Given the description of an element on the screen output the (x, y) to click on. 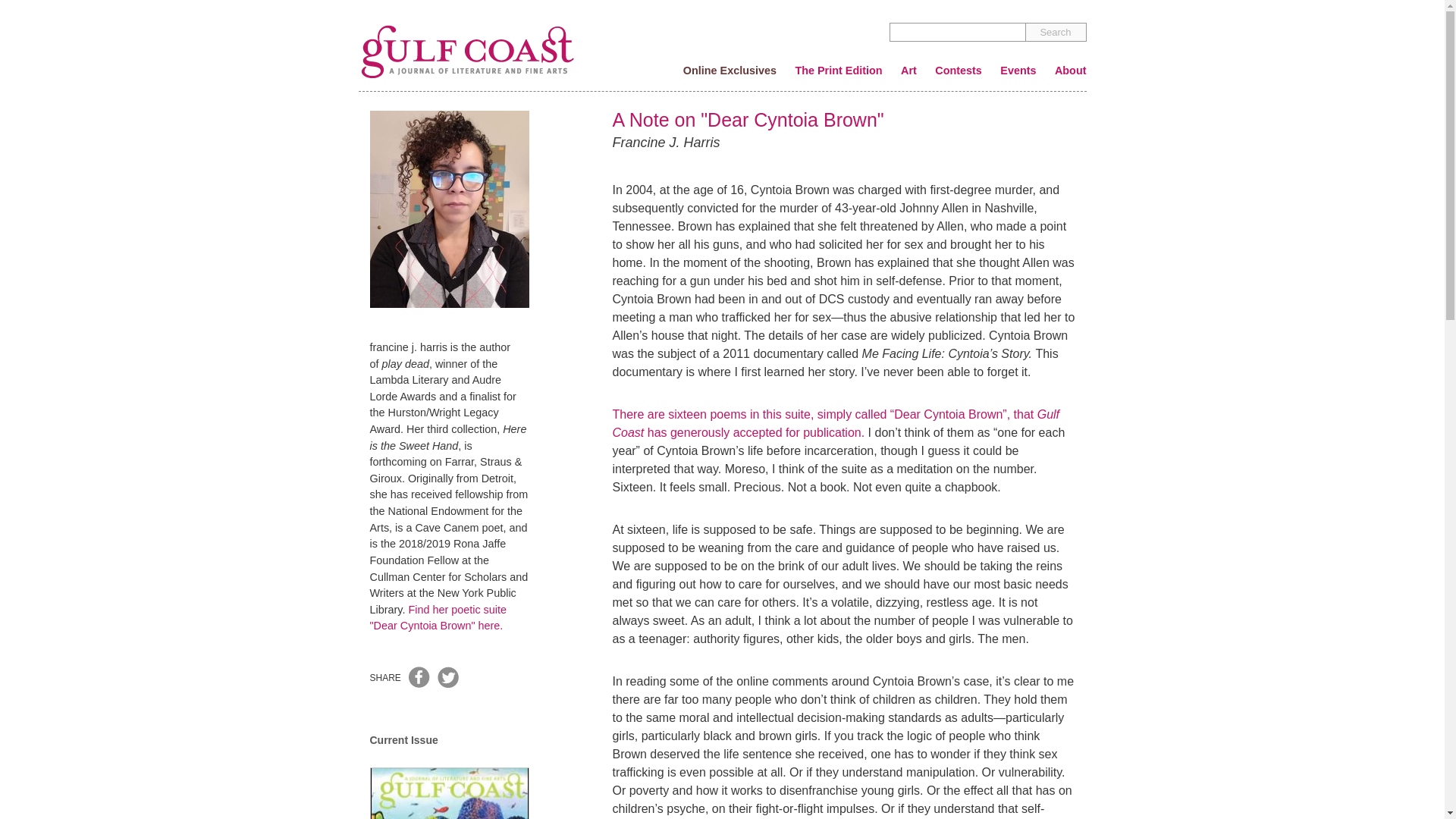
Search (1055, 31)
Search (1055, 31)
